Given the description of an element on the screen output the (x, y) to click on. 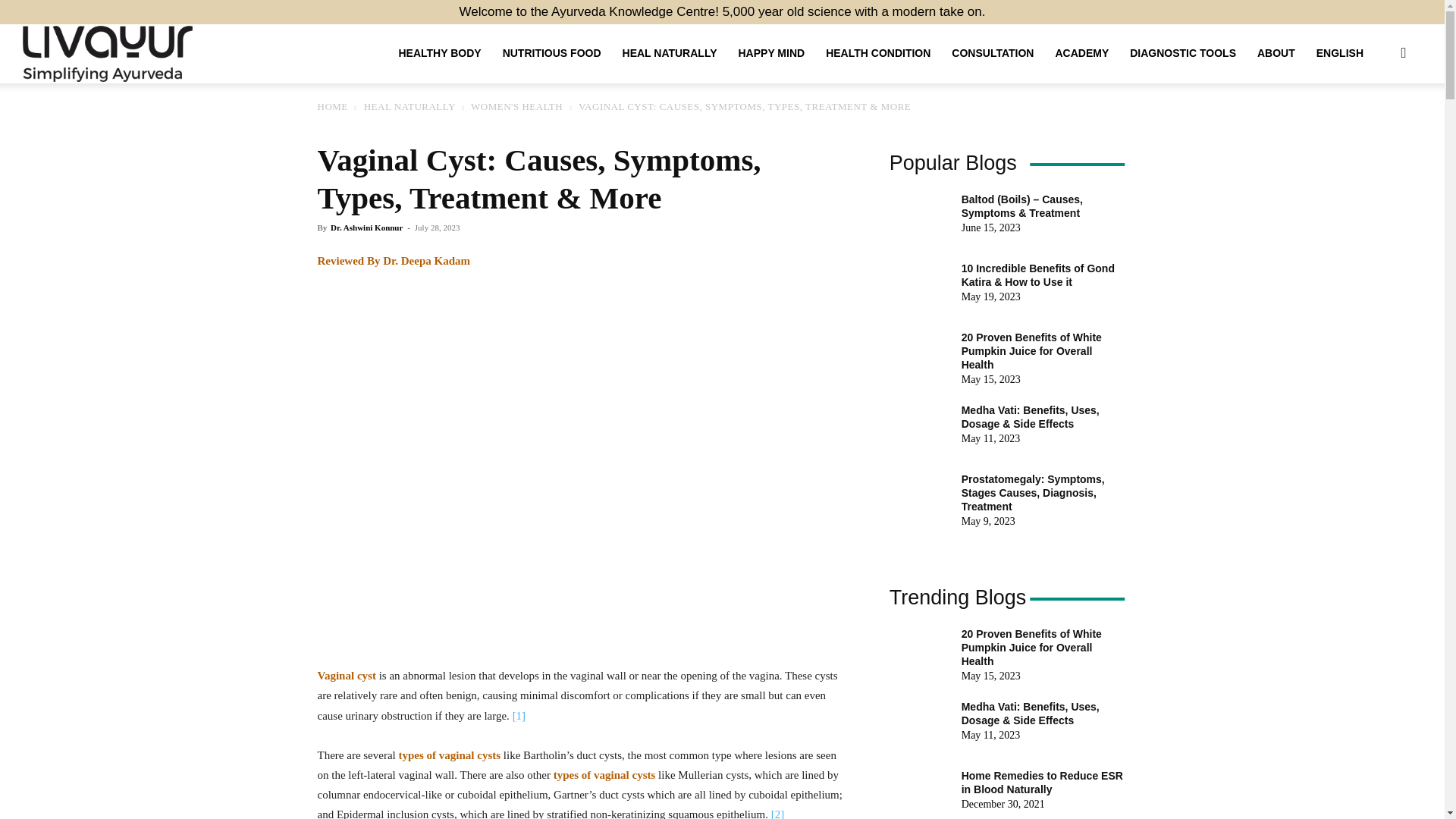
View all posts in HEAL NATURALLY (409, 106)
English (1340, 52)
View all posts in Women's Health (516, 106)
